Given the description of an element on the screen output the (x, y) to click on. 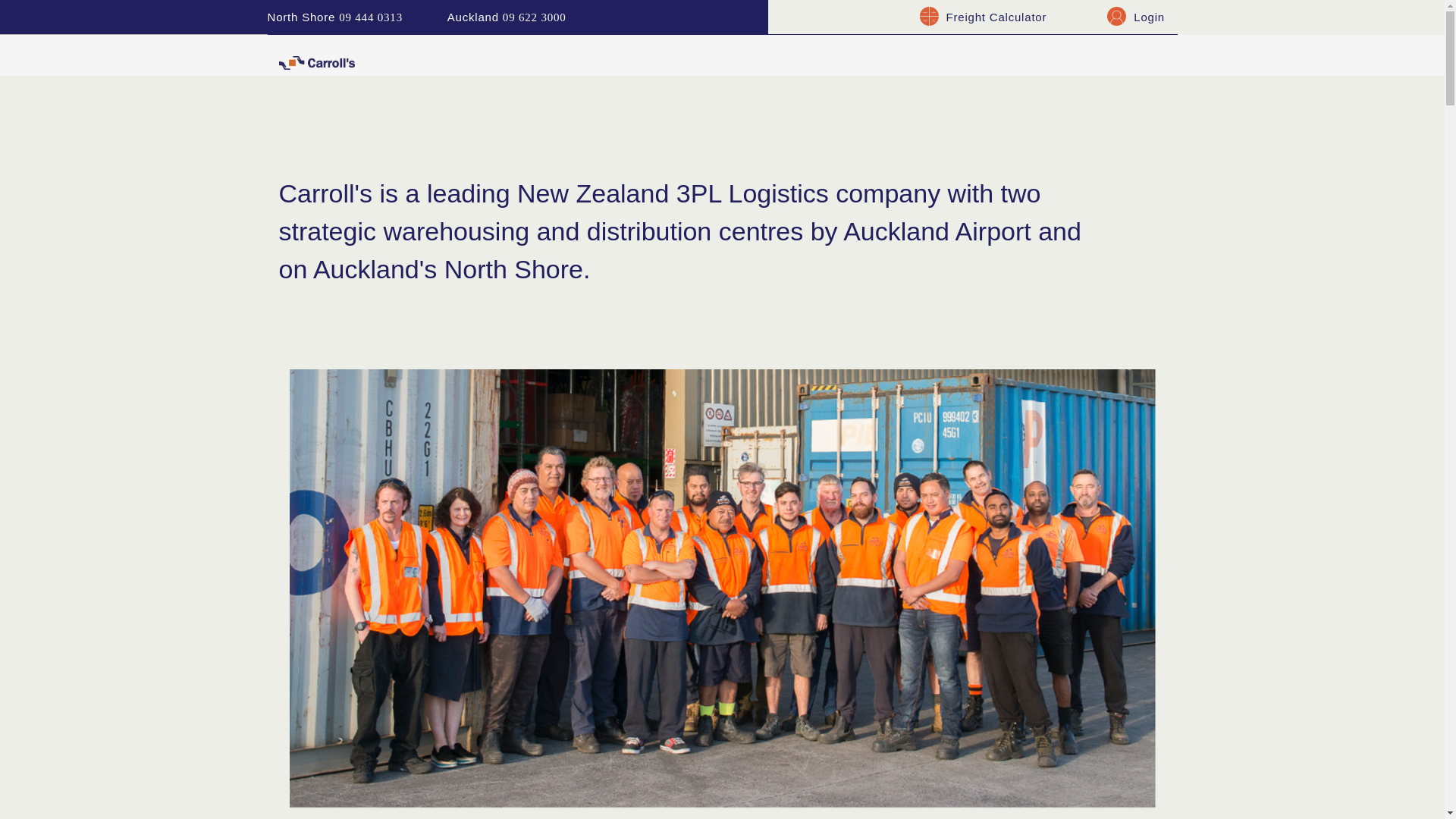
Login (1149, 17)
North Shore 09 444 0313 (333, 16)
Auckland 09 622 3000 (506, 16)
Freight Calculator (996, 17)
